Given the description of an element on the screen output the (x, y) to click on. 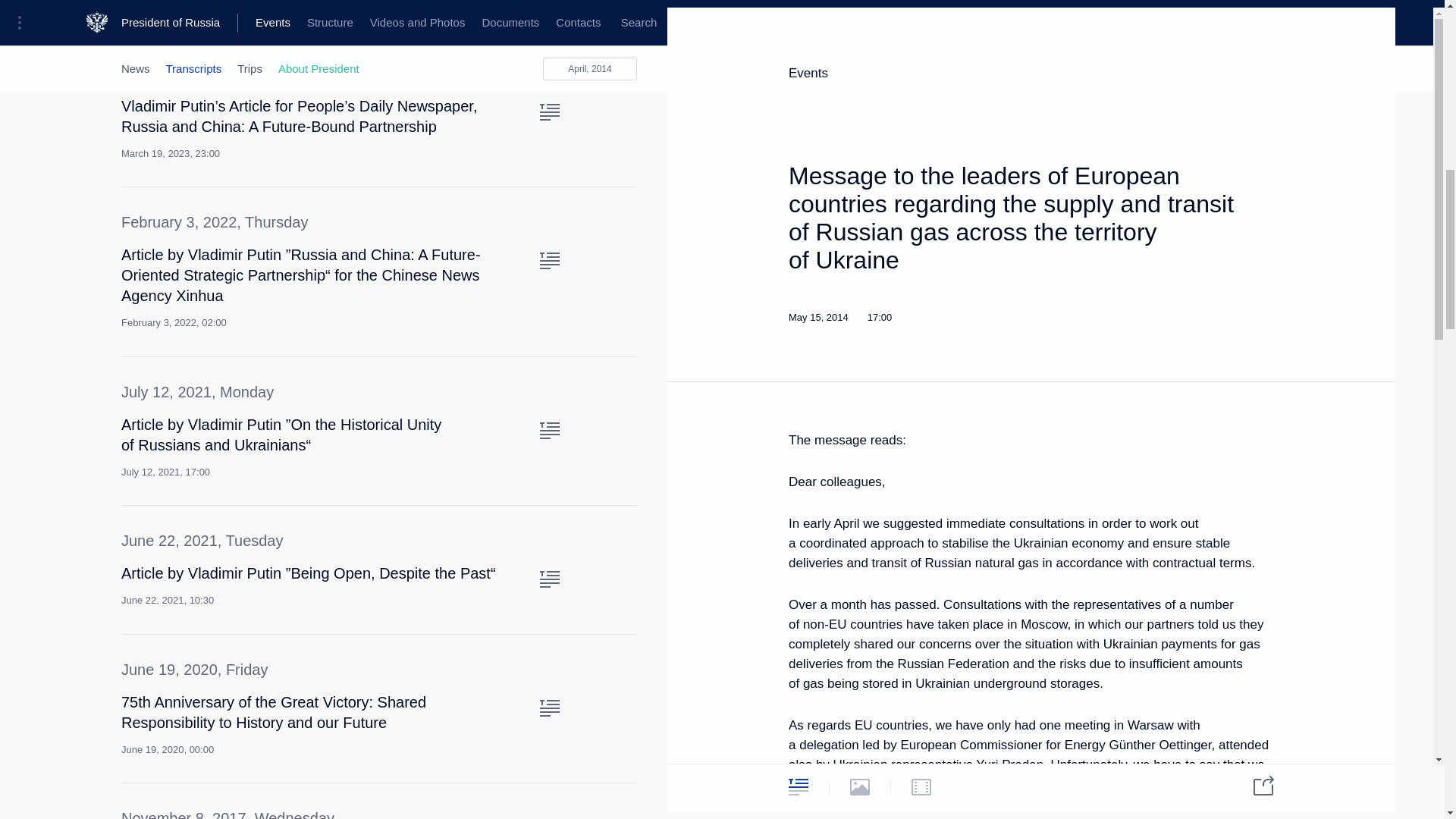
Text of the article (549, 579)
Text of the article (549, 430)
Text of the article (549, 708)
Text of the article (549, 260)
Text of the article (549, 112)
